Given the description of an element on the screen output the (x, y) to click on. 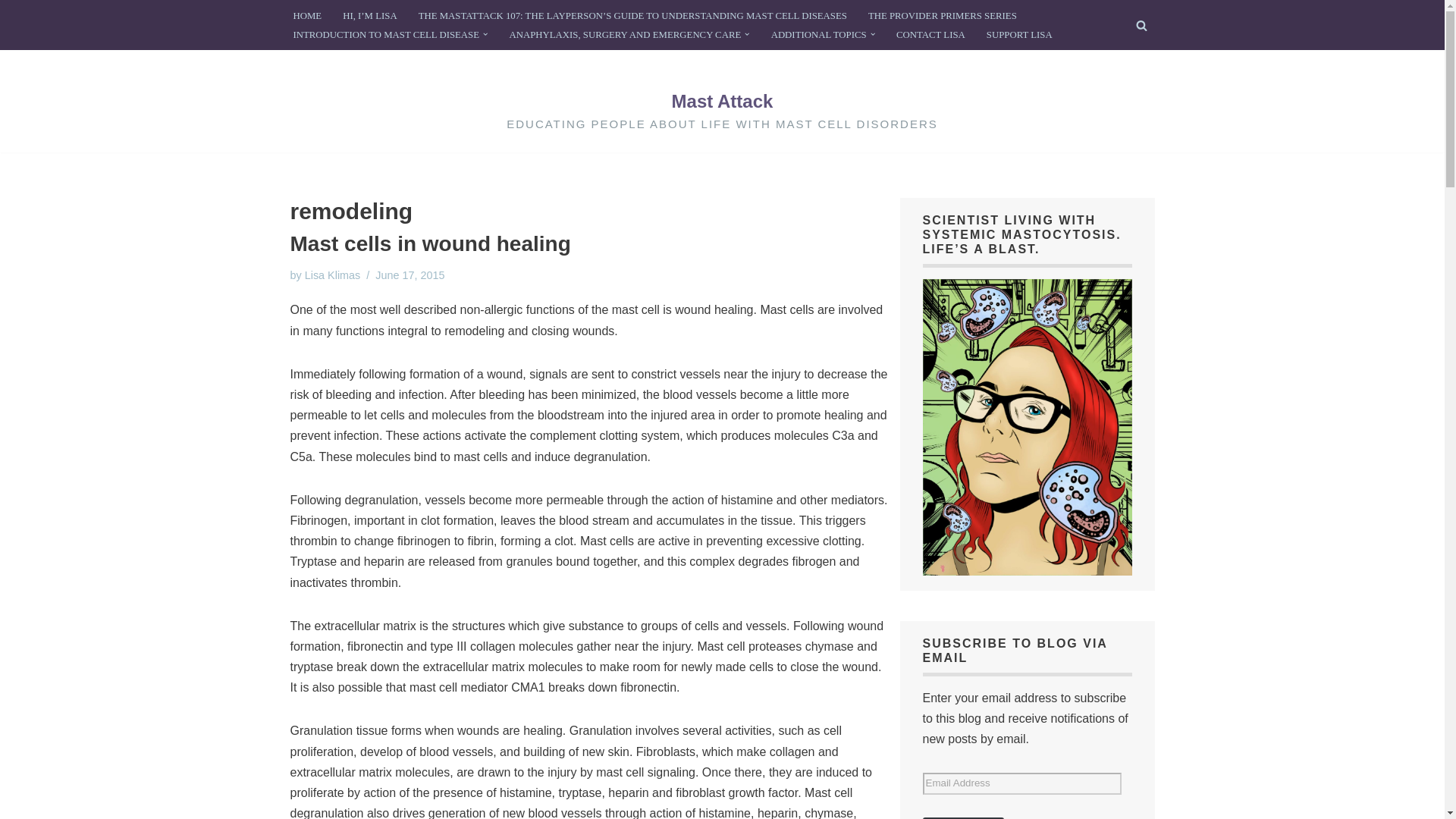
SUPPORT LISA (1019, 34)
ADDITIONAL TOPICS (818, 34)
Skip to content (11, 31)
THE PROVIDER PRIMERS SERIES (941, 15)
CONTACT LISA (930, 34)
HOME (306, 15)
Posts by Lisa Klimas (332, 275)
INTRODUCTION TO MAST CELL DISEASE (385, 34)
ANAPHYLAXIS, SURGERY AND EMERGENCY CARE (624, 34)
